Given the description of an element on the screen output the (x, y) to click on. 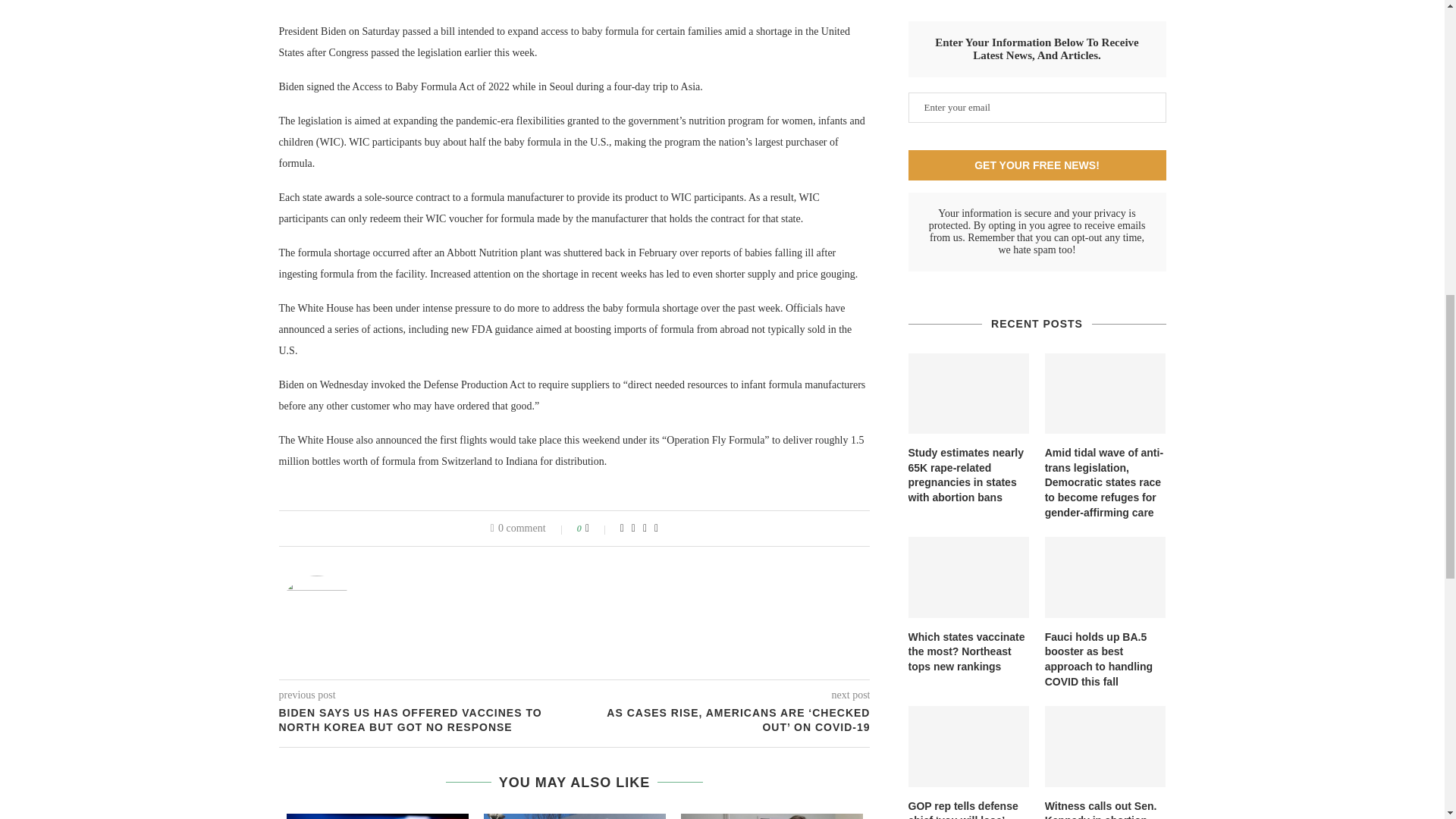
Enter your email (1037, 107)
Get Your Free News! (1037, 164)
FDA allows sale of best-selling tobacco e-cigarette Vuse (574, 816)
Facing Vance, Dems hone in on abortion (377, 816)
Like (597, 527)
